Given the description of an element on the screen output the (x, y) to click on. 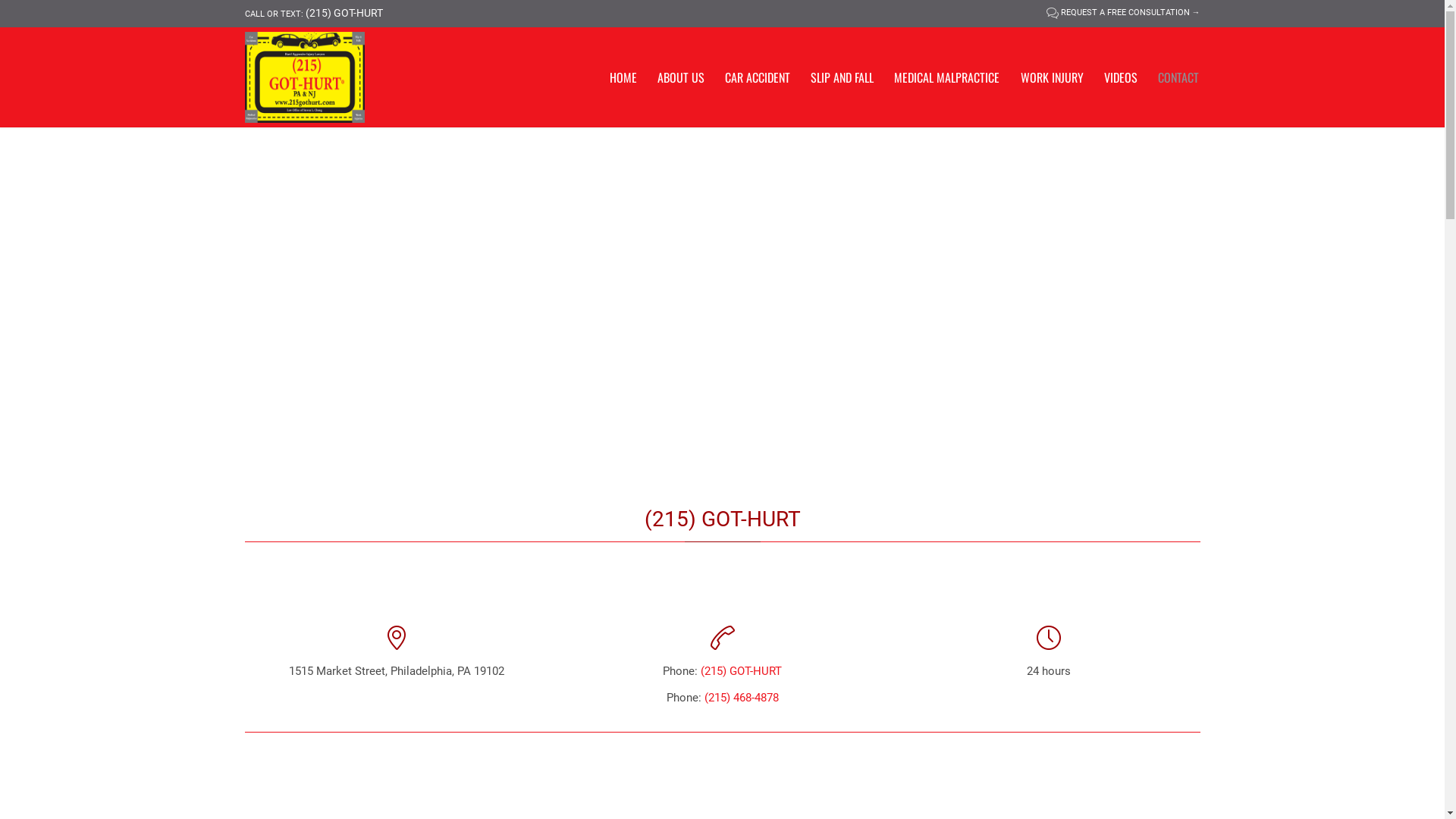
HOME Element type: text (622, 77)
(215) GOT-HURT Element type: hover (319, 77)
CONTACT Element type: text (1177, 77)
ABOUT US Element type: text (680, 77)
(215) 468-4878 Element type: text (740, 697)
CAR ACCIDENT Element type: text (757, 77)
WORK INJURY Element type: text (1051, 77)
VIDEOS Element type: text (1120, 77)
(215) GOT-HURT Element type: text (740, 670)
SLIP AND FALL Element type: text (842, 77)
Skip to content Element type: text (1208, 56)
(215) GOT-HURT Element type: text (343, 13)
MEDICAL MALPRACTICE Element type: text (947, 77)
